Given the description of an element on the screen output the (x, y) to click on. 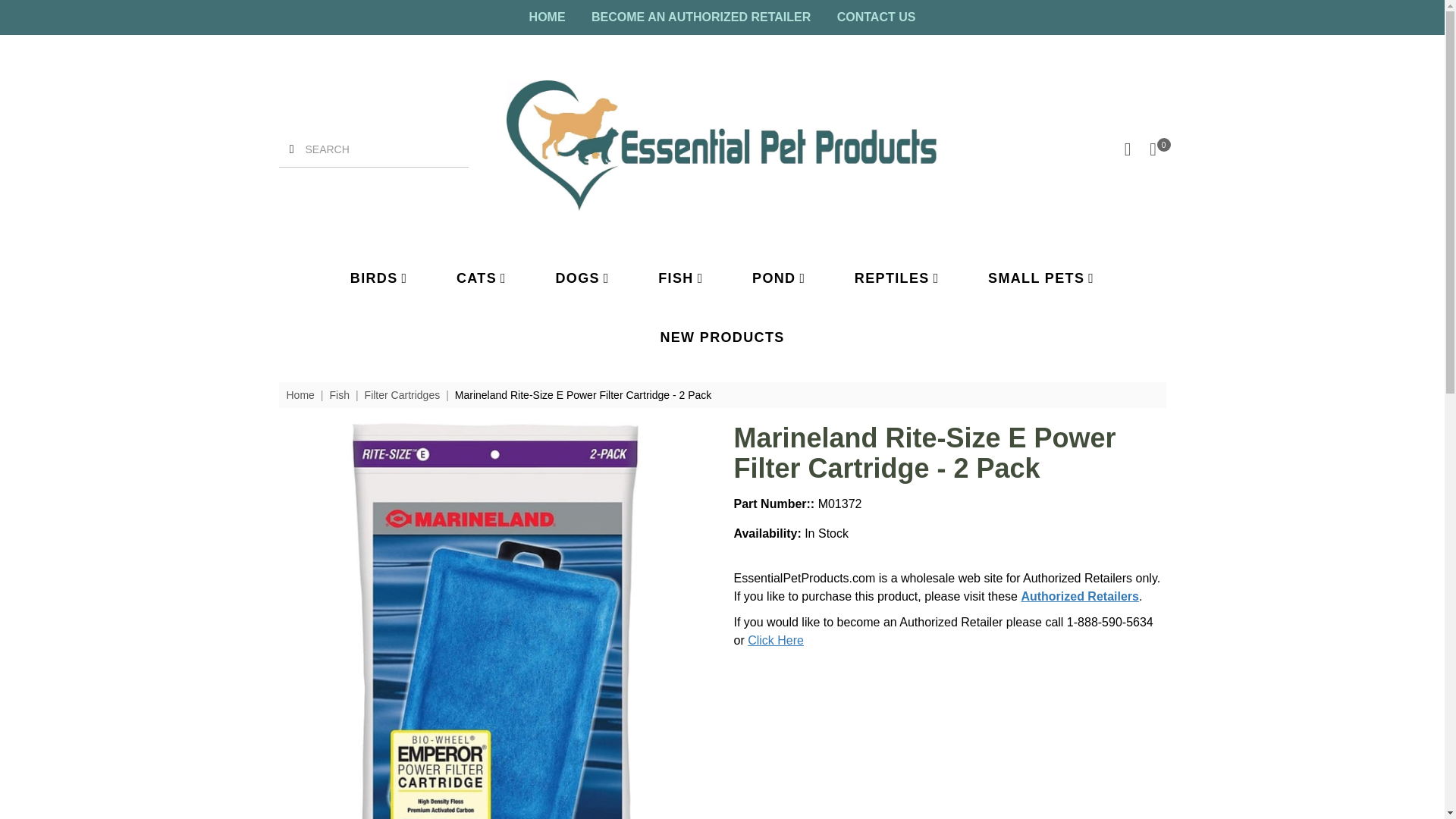
HOME (547, 16)
CONTACT US (876, 16)
BECOME AN AUTHORIZED RETAILER (700, 16)
BIRDS (378, 278)
0 (1153, 149)
